Given the description of an element on the screen output the (x, y) to click on. 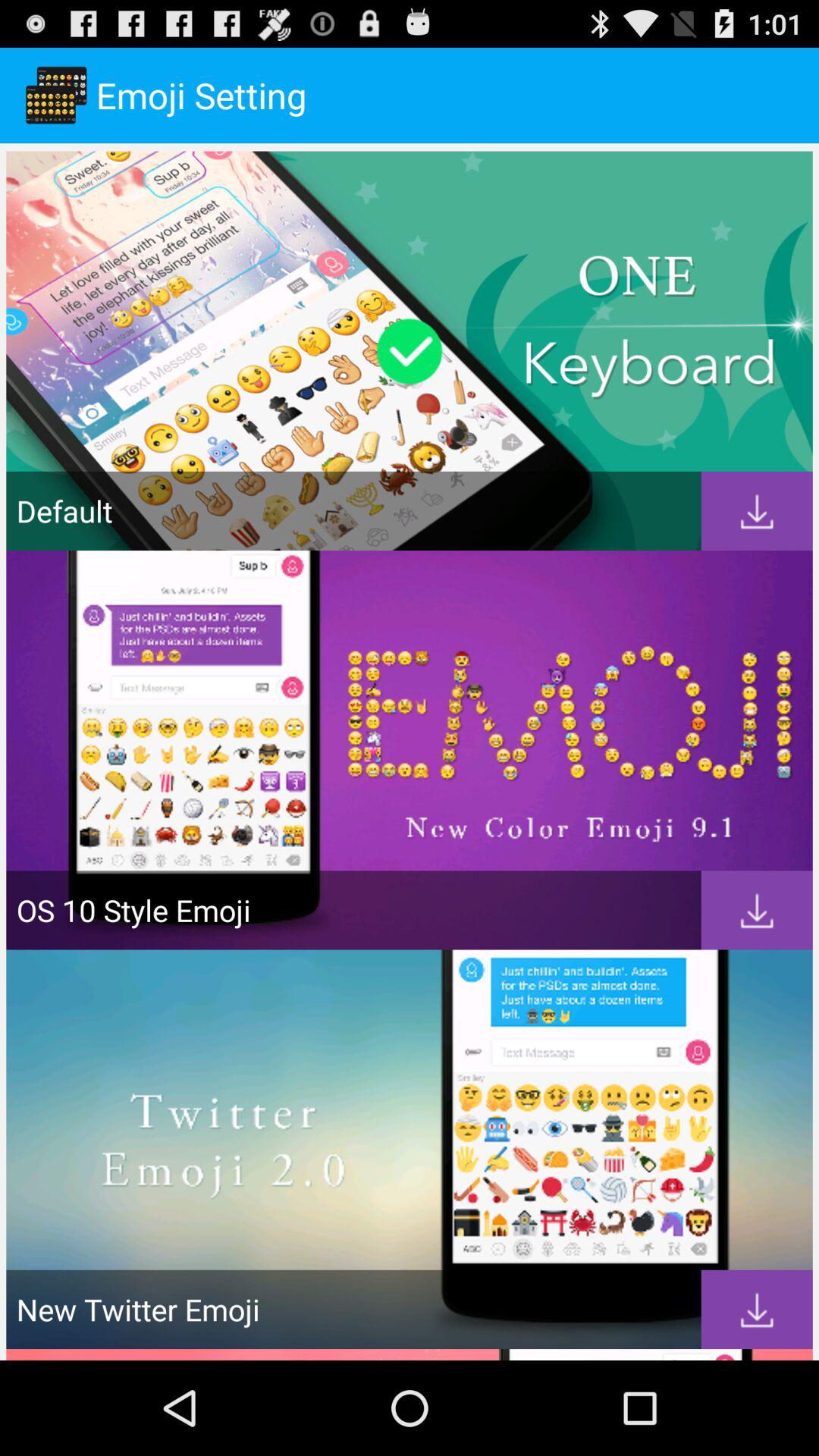
toggle download option (756, 1309)
